Given the description of an element on the screen output the (x, y) to click on. 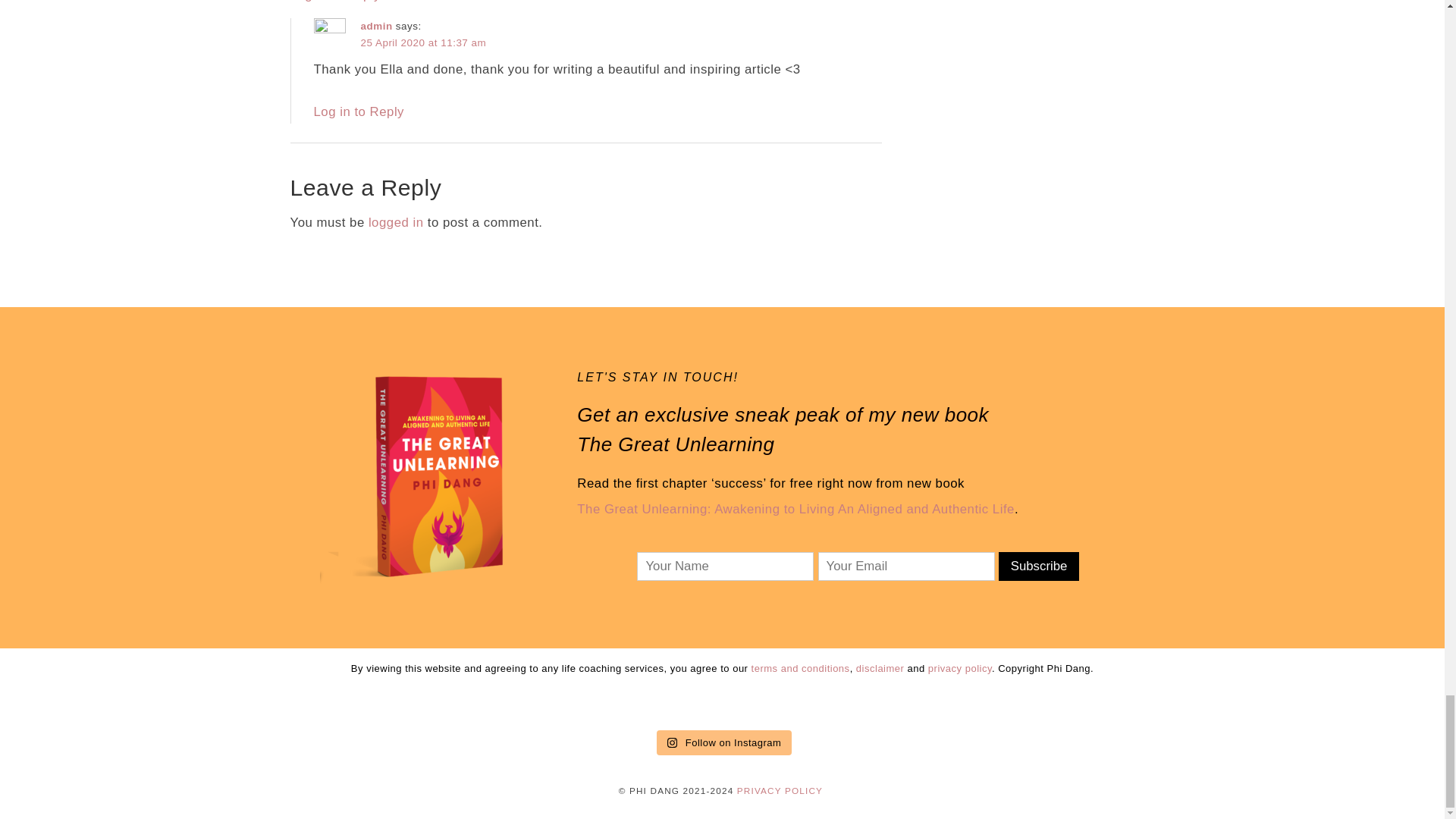
admin (377, 25)
Log in to Reply (359, 111)
Subscribe (1039, 566)
Log in to Reply (334, 1)
logged in (395, 222)
25 April 2020 at 11:37 am (423, 42)
